Given the description of an element on the screen output the (x, y) to click on. 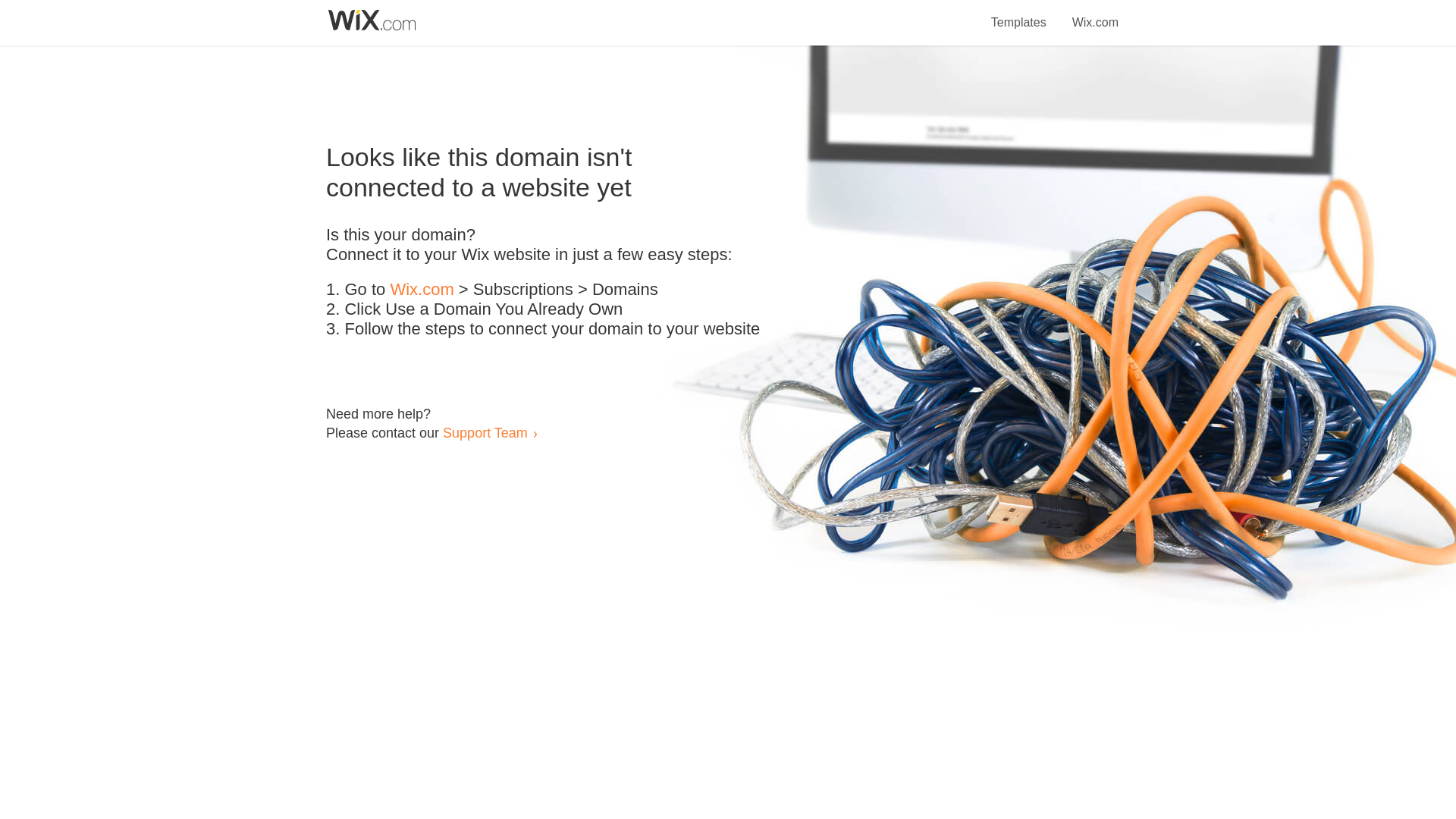
Wix.com (421, 289)
Wix.com (1095, 14)
Support Team (484, 432)
Templates (1018, 14)
